Given the description of an element on the screen output the (x, y) to click on. 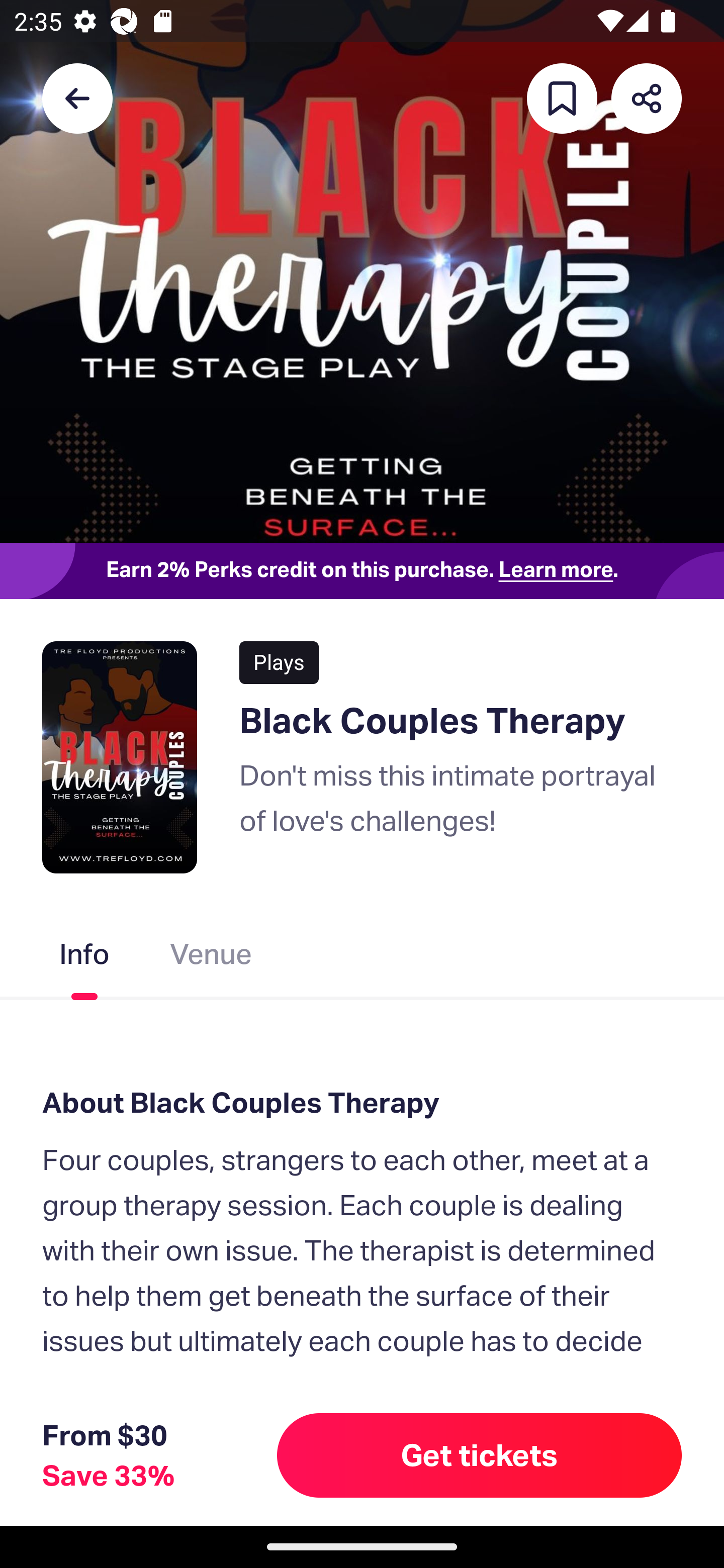
Earn 2% Perks credit on this purchase. Learn more. (362, 570)
Venue (210, 957)
About Black Couples Therapy (361, 1103)
Get tickets (479, 1454)
